Given the description of an element on the screen output the (x, y) to click on. 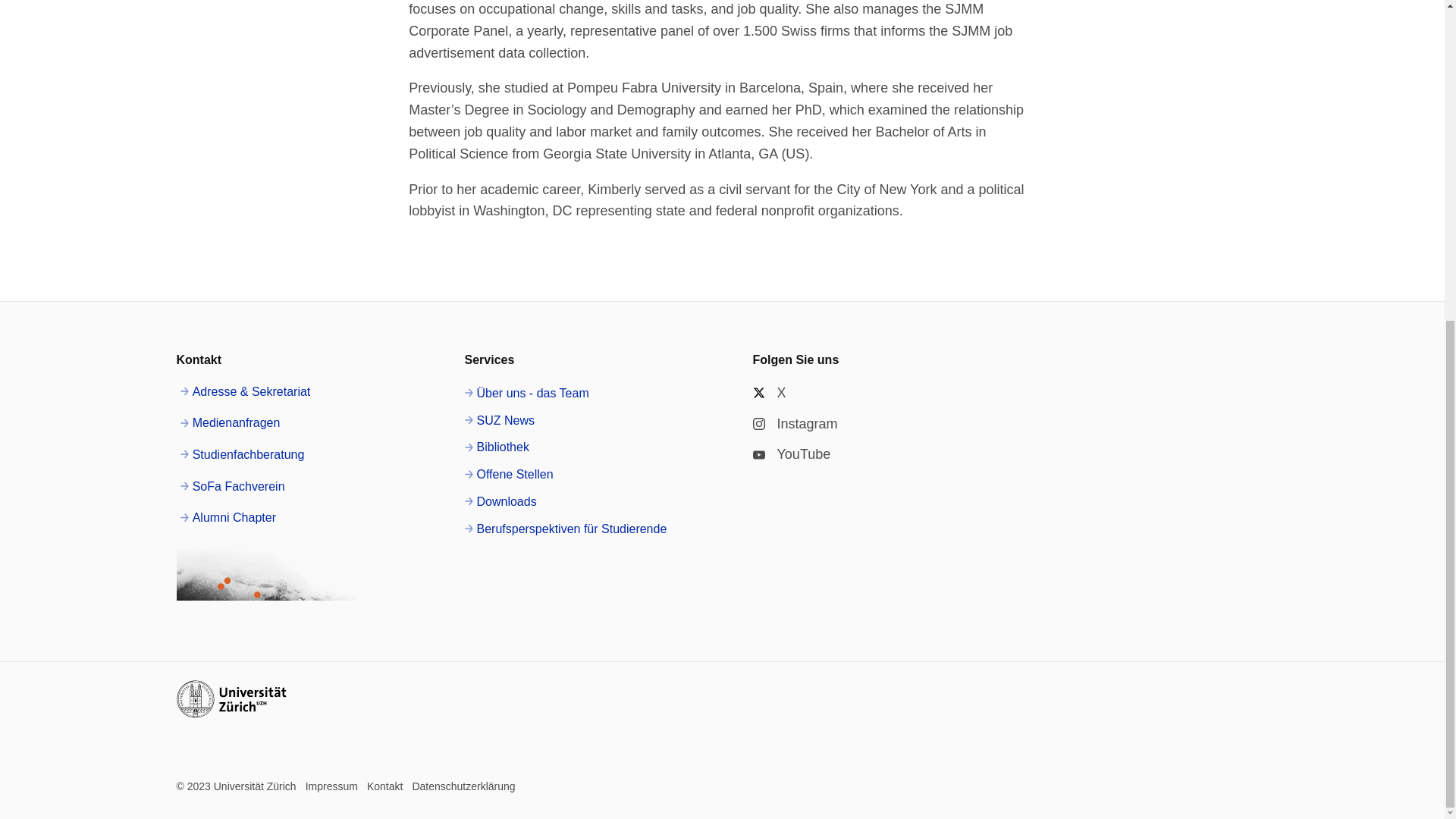
Offene Stellen (508, 474)
Downloads (499, 501)
SUZ News (499, 420)
Bibliothek (496, 447)
